Given the description of an element on the screen output the (x, y) to click on. 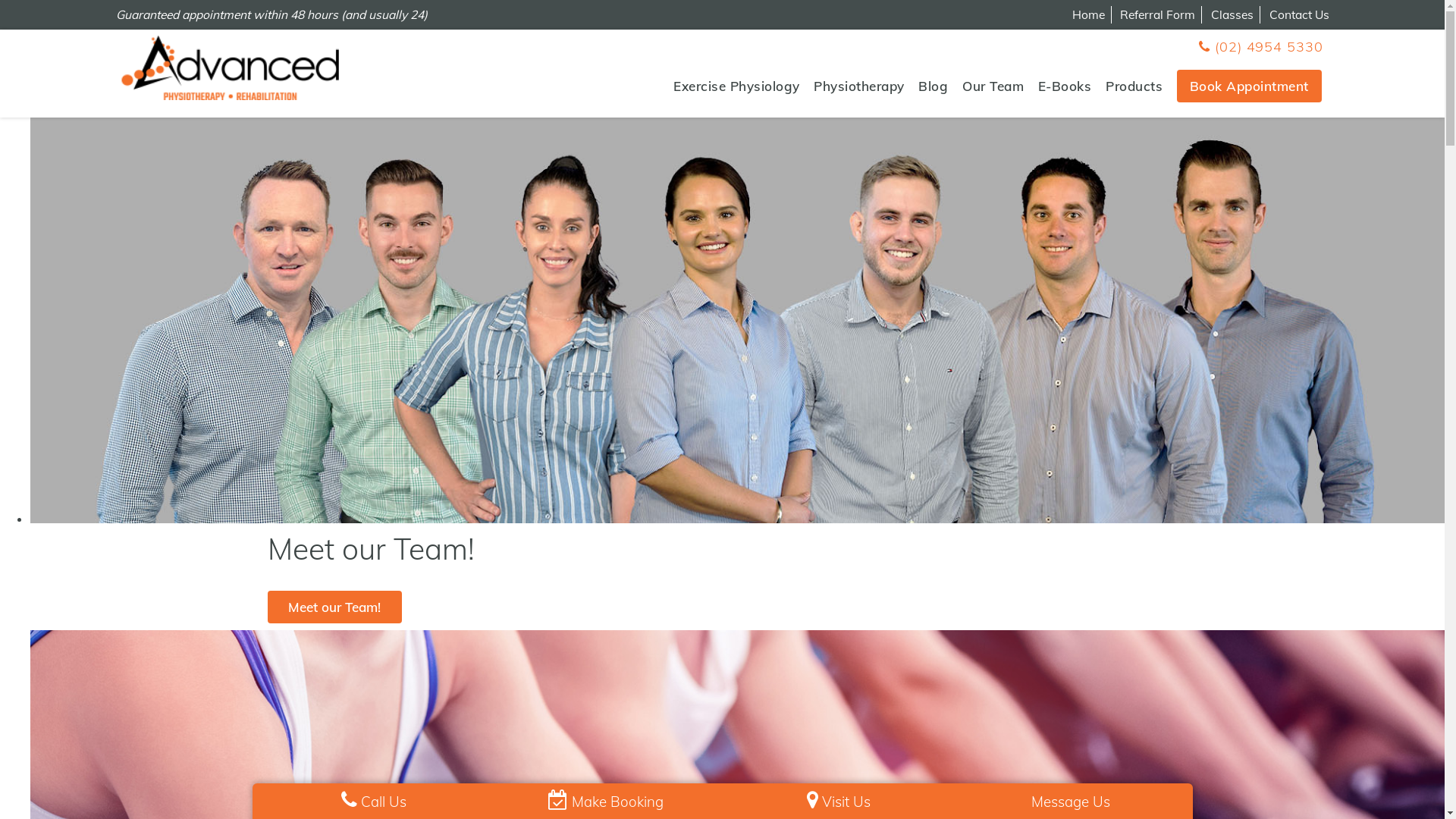
Classes Element type: text (1232, 13)
Referral Form Element type: text (1157, 13)
Blog Element type: text (932, 85)
Physiotherapy Element type: text (858, 85)
(02) 4954 5330 Element type: text (1260, 46)
Meet our Team! Element type: text (333, 606)
Home Element type: text (1088, 13)
E-Books Element type: text (1065, 85)
Exercise Physiology Element type: text (736, 85)
Advanced Physiotherapy Element type: hover (228, 67)
Book Appointment Element type: text (1248, 85)
Contact Us Element type: text (1299, 13)
Products Element type: text (1133, 85)
Our Team Element type: text (992, 85)
